Given the description of an element on the screen output the (x, y) to click on. 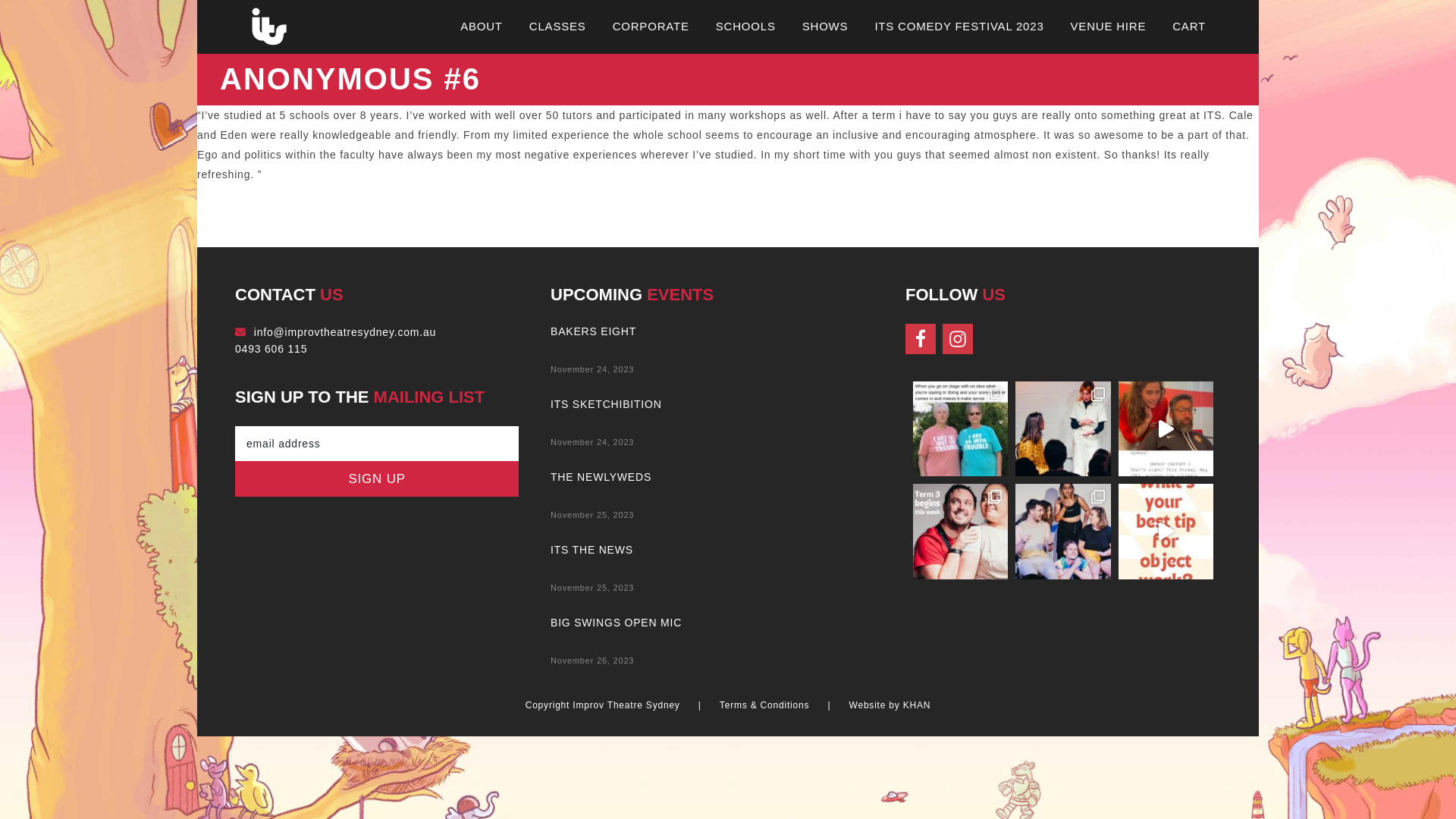
ABOUT Element type: text (481, 25)
Website by KHAN Element type: text (890, 706)
SHOWS Element type: text (825, 25)
ITS THE NEWS Element type: text (591, 549)
SCHOOLS Element type: text (745, 25)
CLASSES Element type: text (557, 25)
THE NEWLYWEDS Element type: text (600, 476)
0493 606 115 Element type: text (271, 348)
Sign up Element type: text (376, 478)
BAKERS EIGHT Element type: text (593, 331)
CART Element type: text (1188, 25)
info@improvtheatresydney.com.au Element type: text (345, 332)
VENUE HIRE Element type: text (1108, 25)
ITS COMEDY FESTIVAL 2023 Element type: text (958, 25)
Terms & Conditions Element type: text (764, 706)
CORPORATE Element type: text (650, 25)
BIG SWINGS OPEN MIC Element type: text (615, 622)
ITS SKETCHIBITION Element type: text (606, 404)
